Given the description of an element on the screen output the (x, y) to click on. 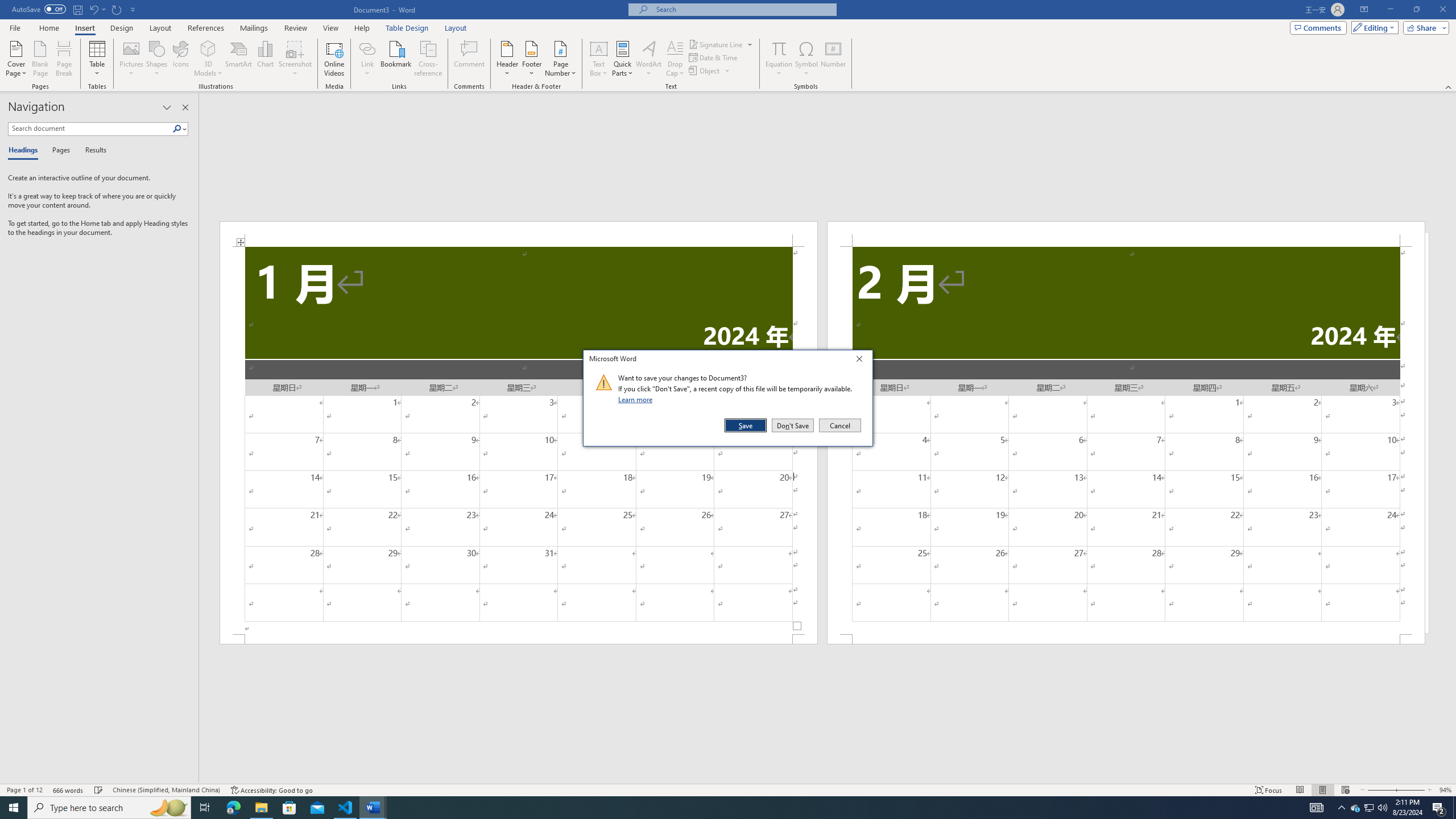
Header -Section 2- (1126, 233)
Equation (778, 48)
SmartArt... (238, 58)
Zoom Out (1380, 790)
Quick Parts (622, 58)
Object... (705, 69)
3D Models (208, 58)
References (205, 28)
View (330, 28)
Visual Studio Code - 1 running window (345, 807)
Action Center, 2 new notifications (1439, 807)
Minimize (1390, 9)
Comment (469, 58)
Review (295, 28)
